Given the description of an element on the screen output the (x, y) to click on. 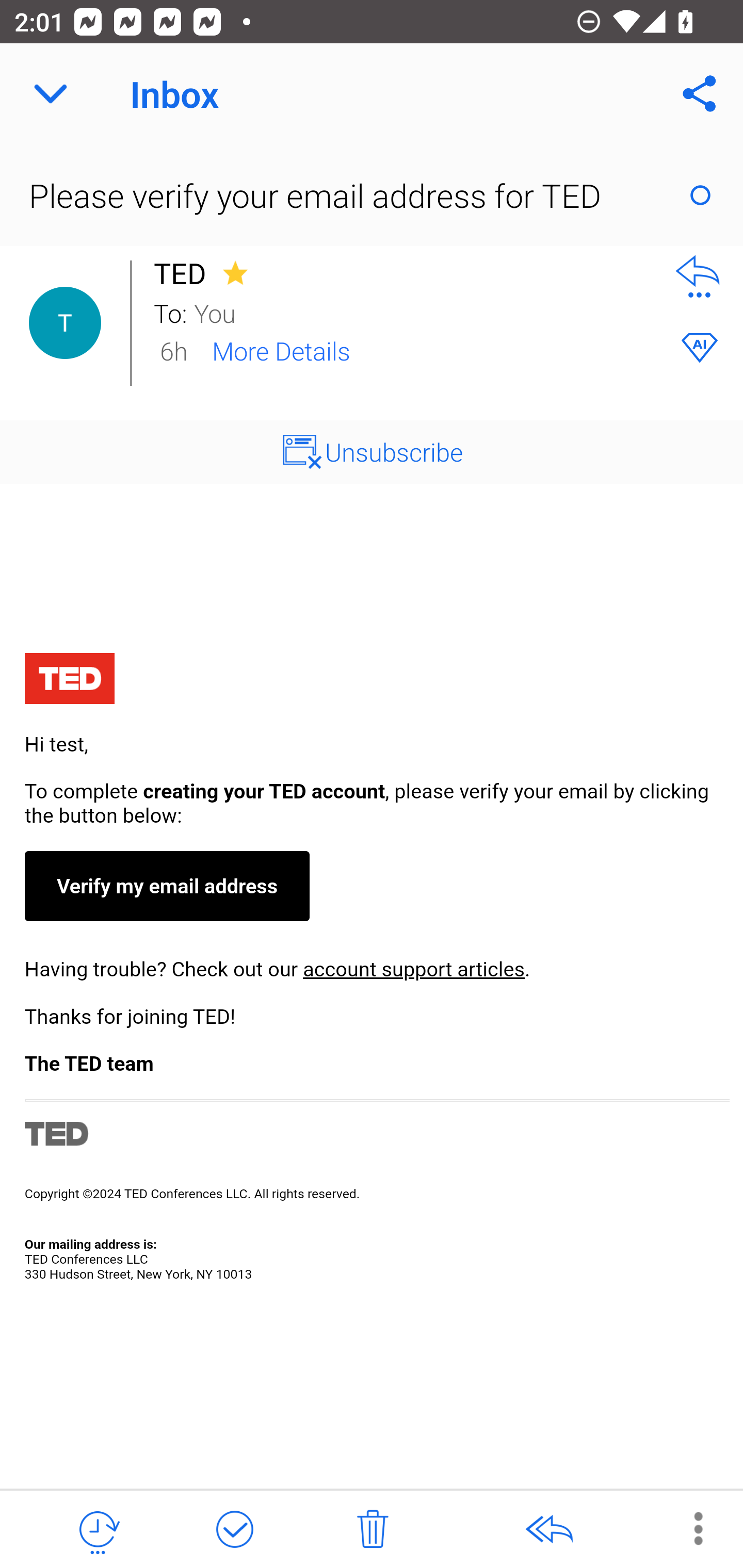
Navigate up (50, 93)
Share (699, 93)
Mark as Read (699, 194)
TED (184, 273)
Unstar (234, 272)
Contact Details (64, 322)
More Details (280, 349)
Unsubscribe (393, 451)
ted-transactional-email-logo (69, 680)
Verify my email address (166, 885)
360000254454-Account (371, 968)
account support articles (413, 968)
More Options (687, 1528)
Snooze (97, 1529)
Mark as Done (234, 1529)
Delete (372, 1529)
Reply All (548, 1529)
